Given the description of an element on the screen output the (x, y) to click on. 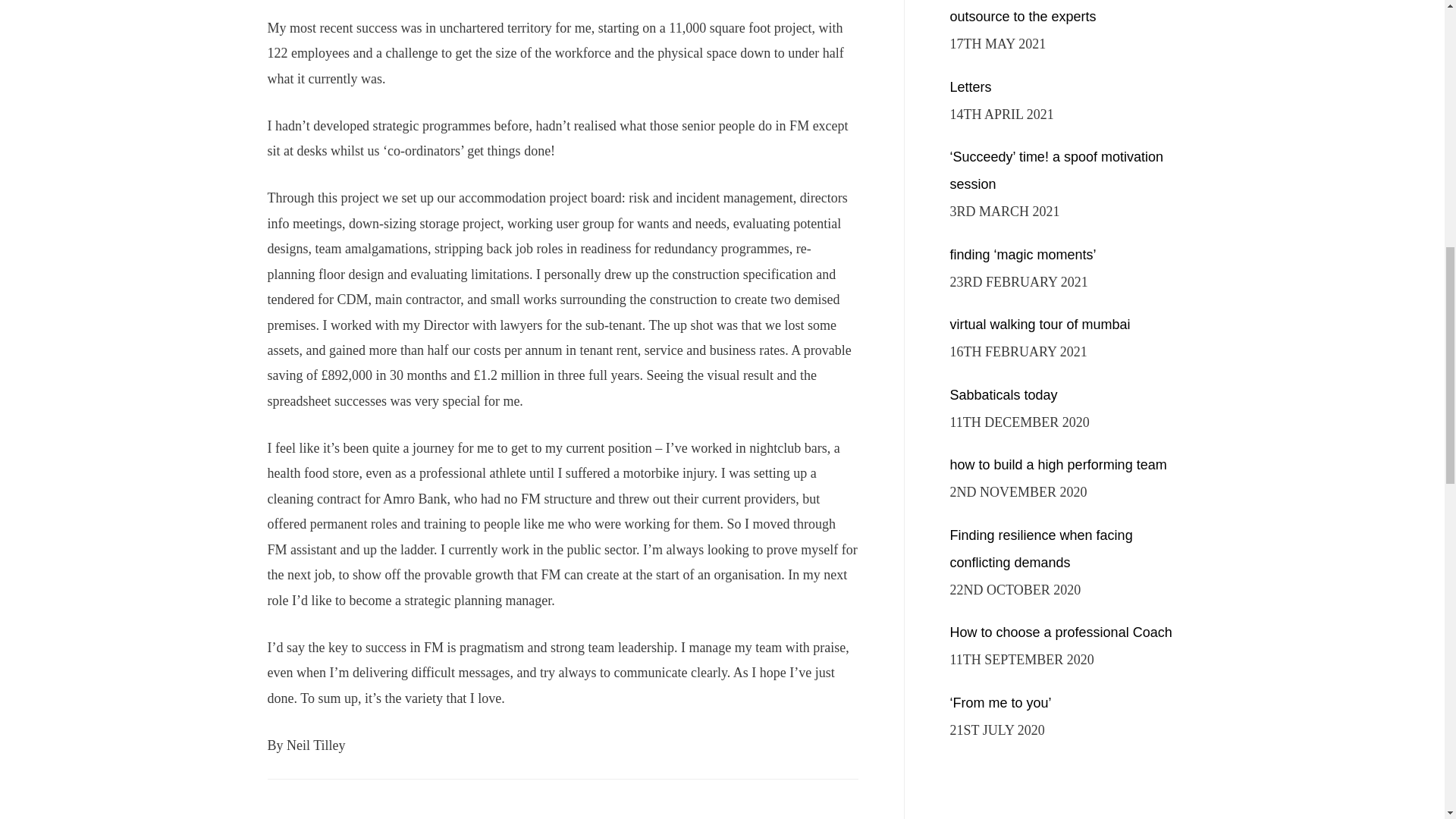
virtual walking tour of mumbai (1039, 324)
Letters (970, 87)
Sabbaticals today (1003, 394)
